Given the description of an element on the screen output the (x, y) to click on. 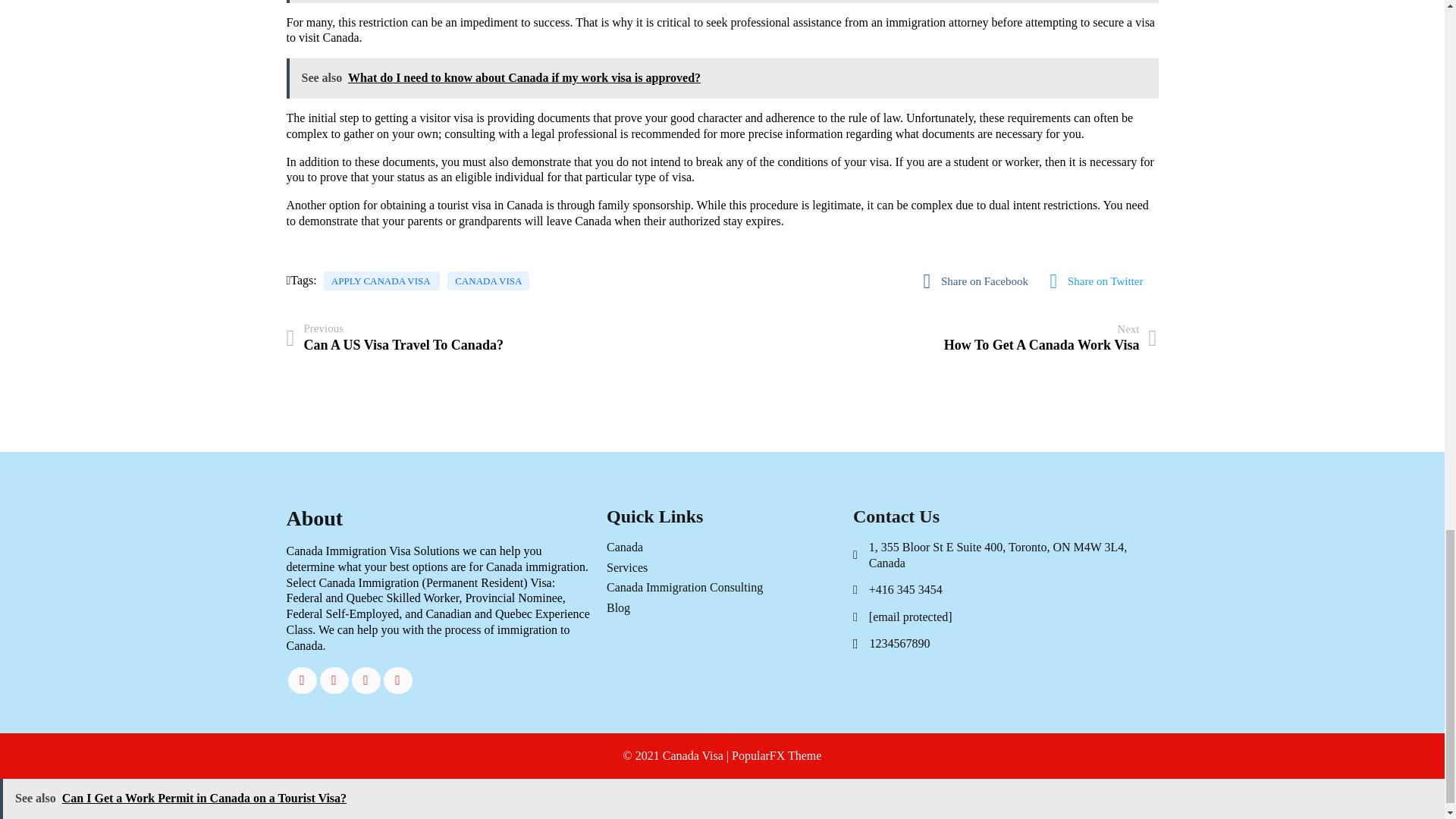
fab fa-google-plus-g (366, 680)
Share on Twitter (1050, 338)
fab fa-twitter-square (1100, 281)
APPLY CANADA VISA (1100, 281)
fab fa-instagram (381, 280)
fab fa-twitter (394, 337)
fab fa-facebook-f (398, 680)
fab fa-facebook-square (334, 680)
Share on Facebook (302, 680)
CANADA VISA (980, 281)
